Given the description of an element on the screen output the (x, y) to click on. 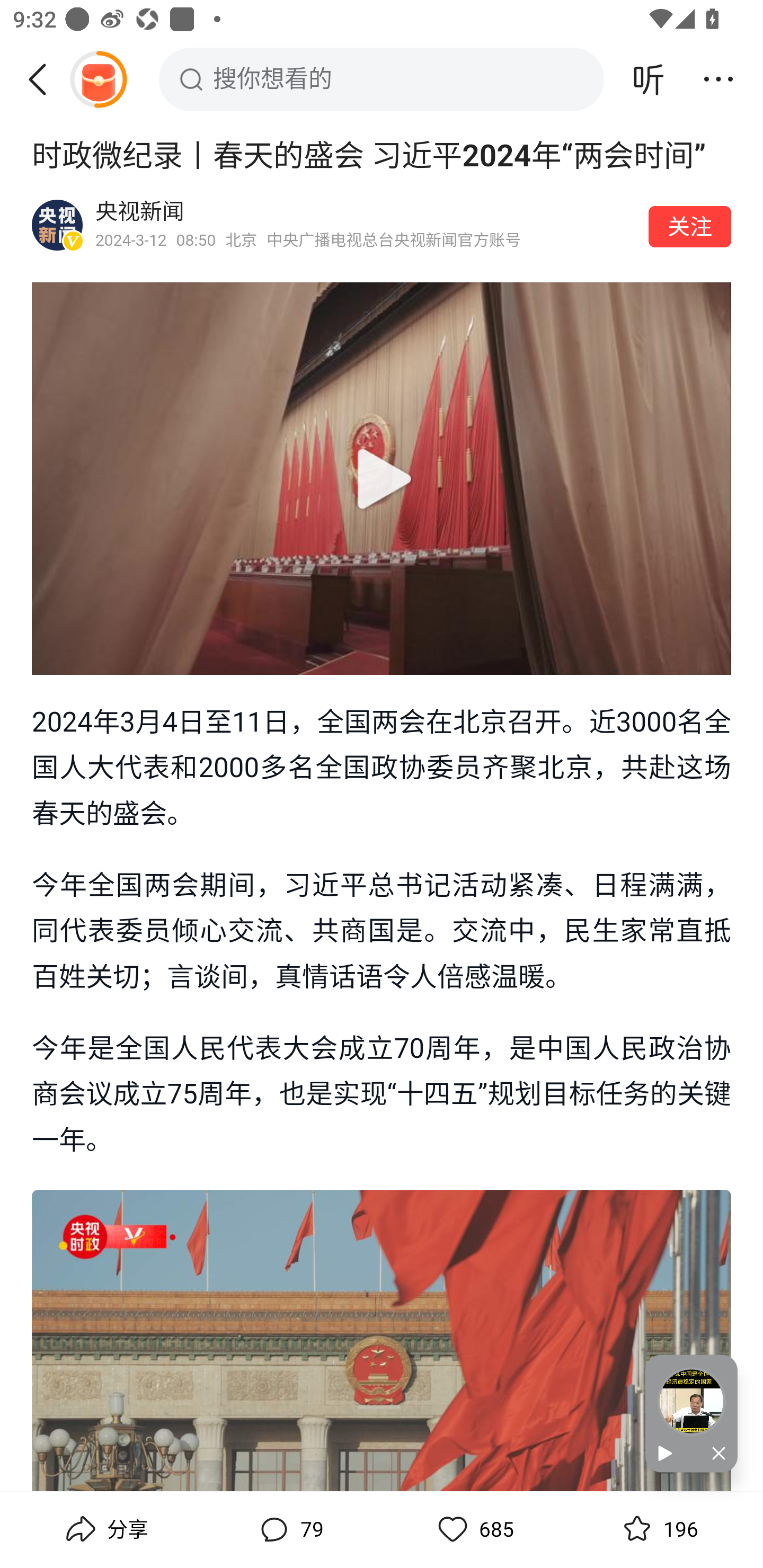
返回 (44, 78)
听头条 (648, 78)
更多操作 (718, 78)
搜你想看的 搜索框，搜你想看的 (381, 79)
阅读赚金币 (98, 79)
作者：央视新闻，简介：中央广播电视总台央视新闻官方账号，2024-3-12 08:50发布，北京 (365, 224)
关注作者 (689, 226)
播放视频 (381, 477)
播放视频 (381, 478)
图片，点击识别内容 (381, 1340)
当前进度 0% 播放 关闭 (691, 1413)
播放 (668, 1454)
关闭 (714, 1454)
分享 (104, 1529)
评论,79 79 (288, 1529)
收藏,196 196 (658, 1529)
